Given the description of an element on the screen output the (x, y) to click on. 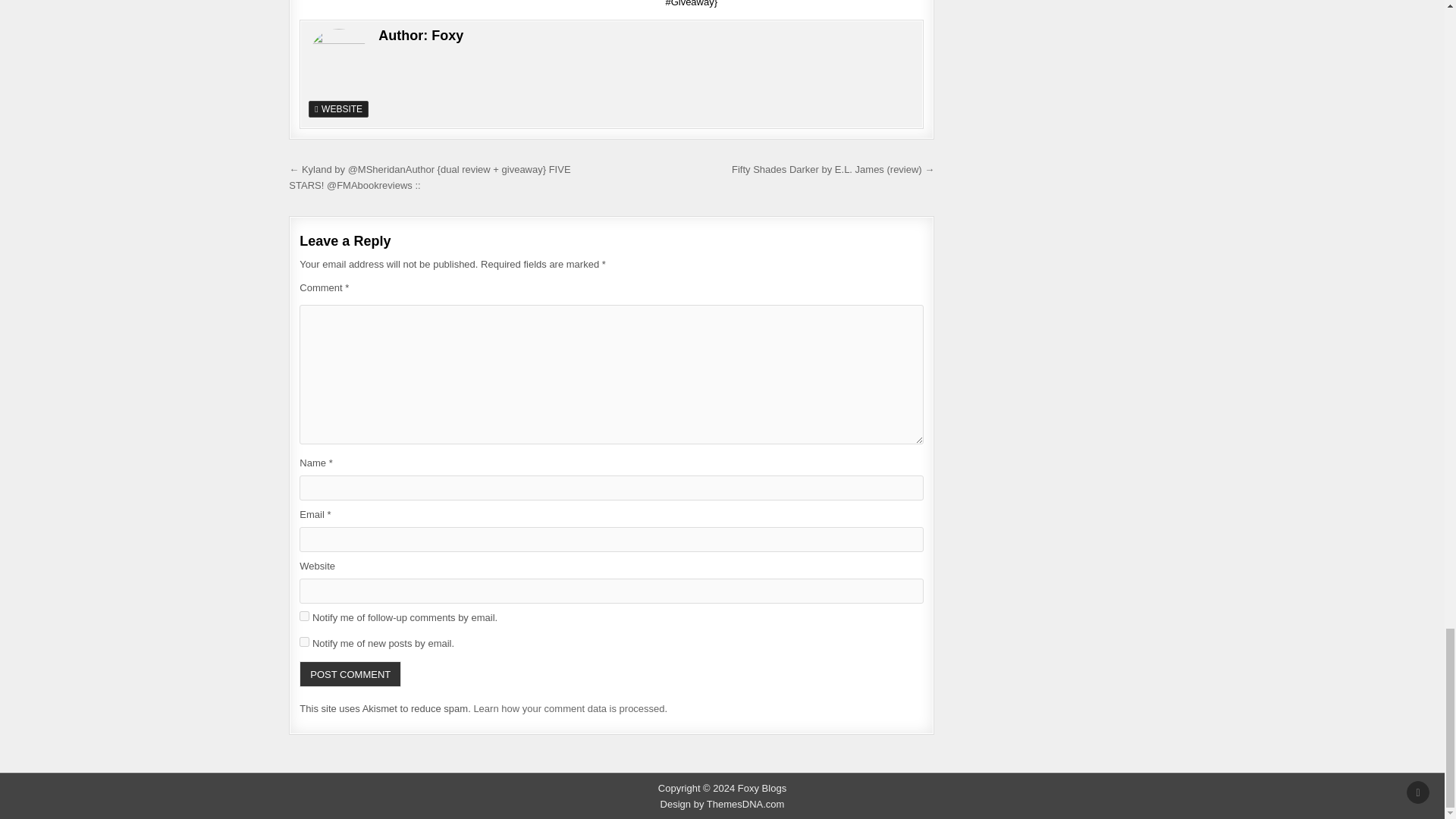
Post Comment (350, 673)
subscribe (303, 615)
subscribe (303, 642)
